Given the description of an element on the screen output the (x, y) to click on. 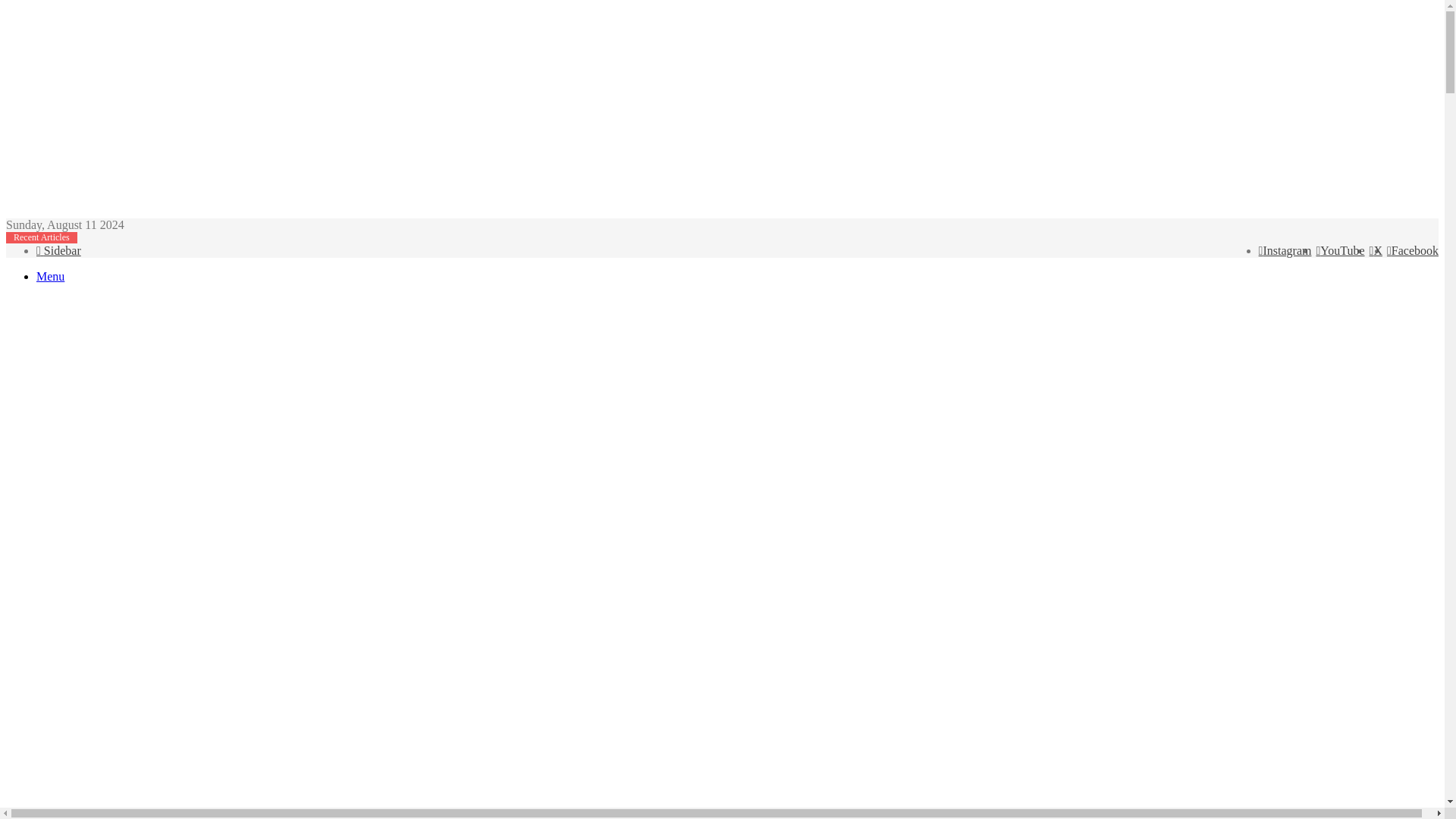
Sidebar (58, 250)
YouTube (1340, 250)
Menu (50, 276)
Facebook (1412, 250)
X (1375, 250)
Instagram (1285, 250)
